Given the description of an element on the screen output the (x, y) to click on. 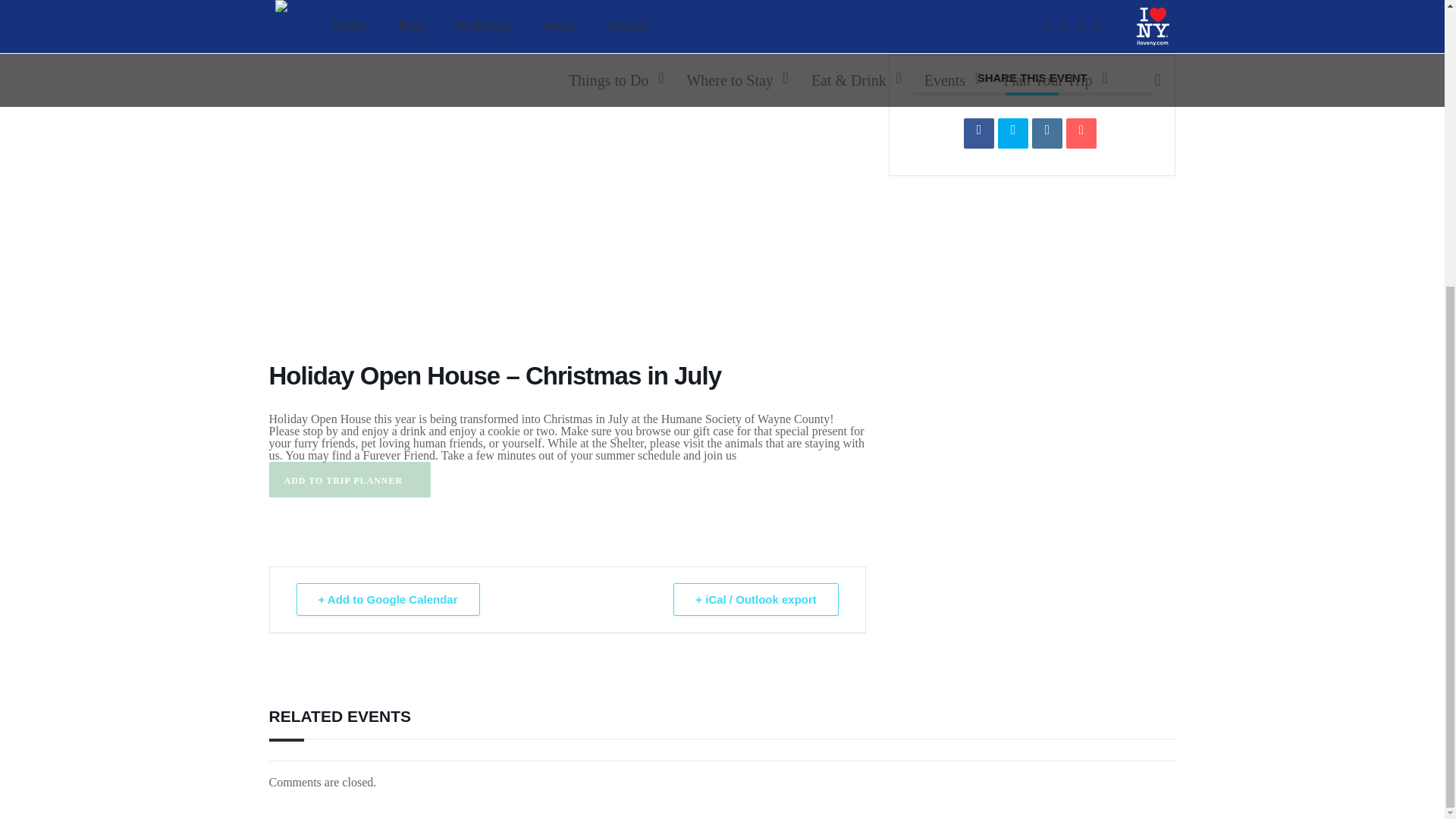
Linkedin (1047, 132)
Tweet (1012, 132)
Email (1080, 132)
Share on Facebook (978, 132)
